Given the description of an element on the screen output the (x, y) to click on. 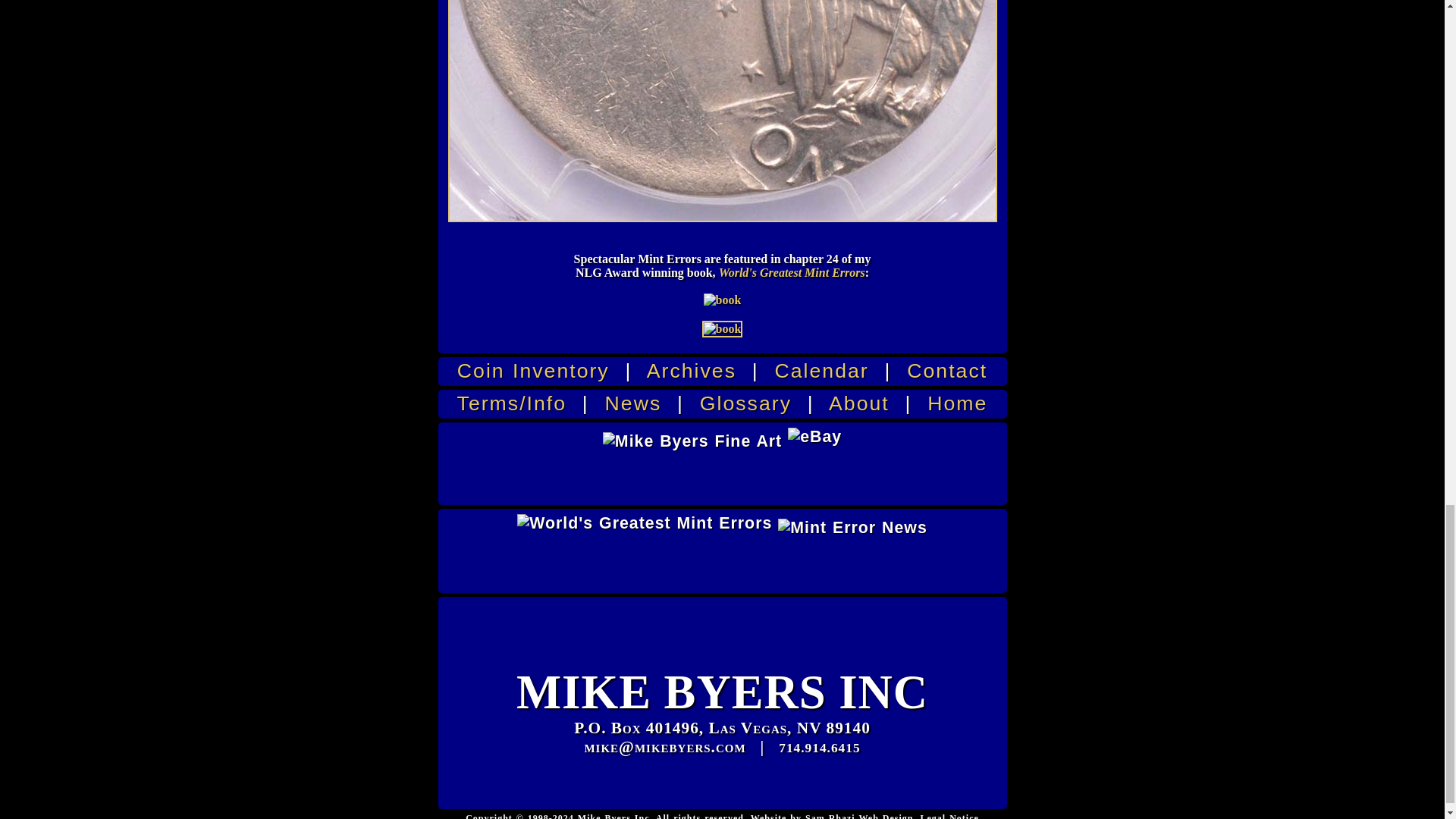
Archives (691, 370)
Contact (947, 370)
About (858, 403)
Coin Inventory (533, 370)
Calendar (821, 370)
Home (957, 403)
714.914.6415 (819, 748)
Glossary (746, 403)
News (633, 403)
P.O. Box 401496, Las Vegas, NV 89140 (721, 728)
World's Greatest Mint Errors (791, 272)
